Given the description of an element on the screen output the (x, y) to click on. 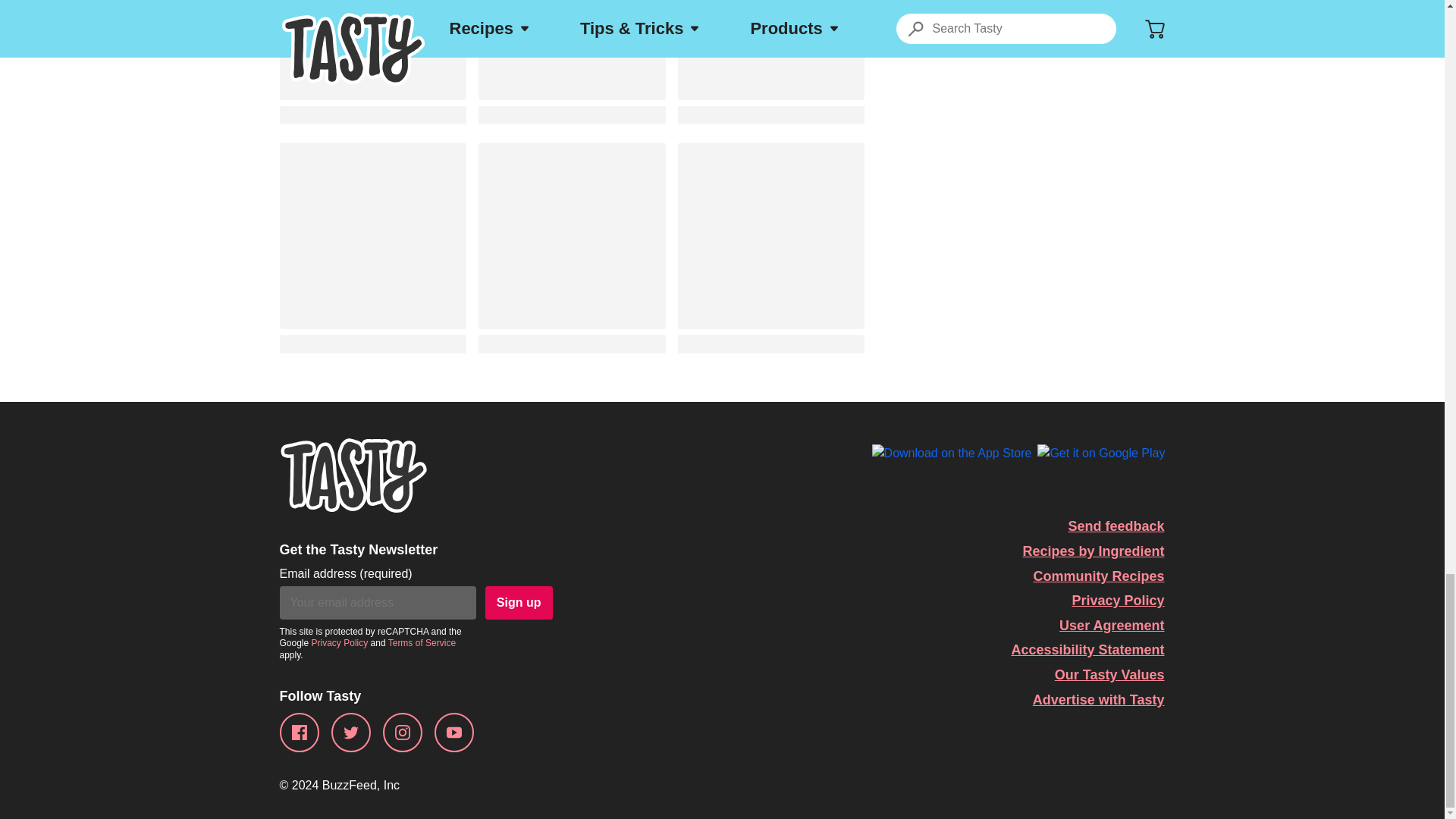
Tasty Logo footer (353, 475)
